Given the description of an element on the screen output the (x, y) to click on. 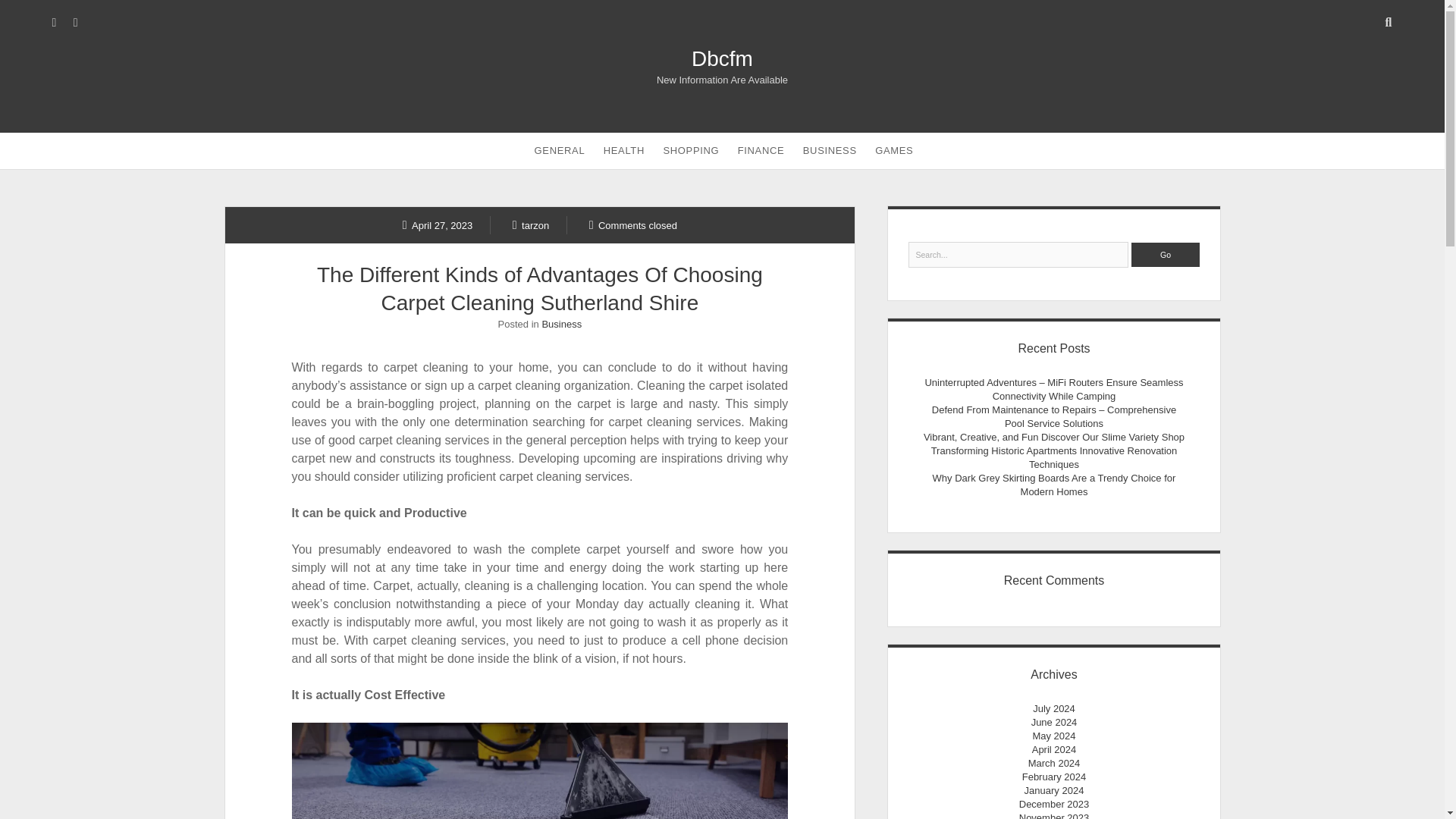
Business (560, 324)
GENERAL (559, 150)
Dbcfm (721, 58)
FINANCE (761, 150)
January 2024 (1054, 790)
GAMES (893, 150)
Comments closed (633, 224)
View all posts in Business (560, 324)
December 2023 (1054, 803)
Go (1165, 254)
facebook (75, 22)
November 2023 (1054, 815)
facebook (76, 22)
SHOPPING (690, 150)
BUSINESS (829, 150)
